Given the description of an element on the screen output the (x, y) to click on. 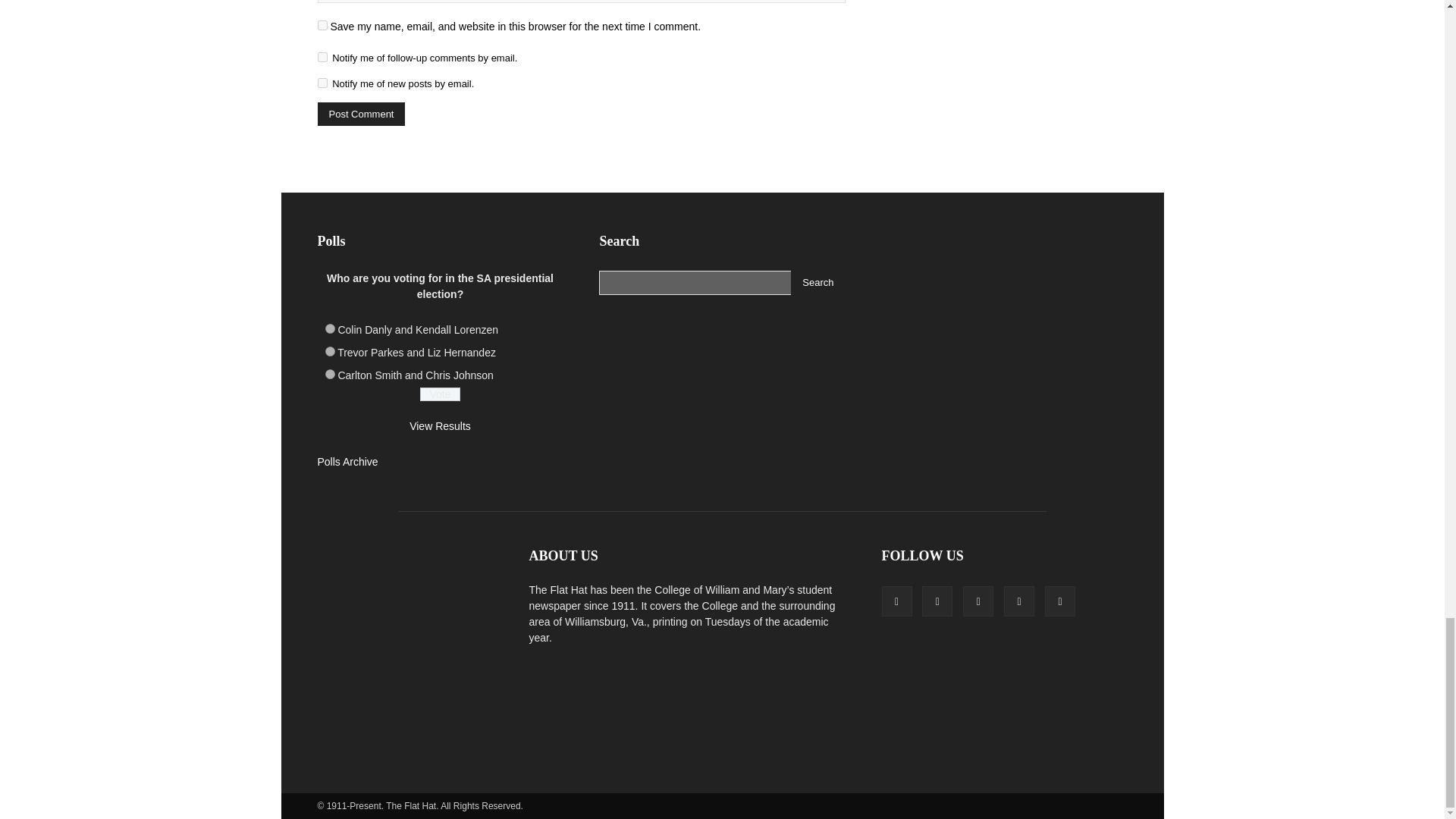
106 (329, 374)
105 (329, 351)
Search (817, 282)
yes (321, 25)
104 (329, 328)
subscribe (321, 57)
Post Comment (360, 114)
   Vote    (440, 394)
subscribe (321, 82)
